Given the description of an element on the screen output the (x, y) to click on. 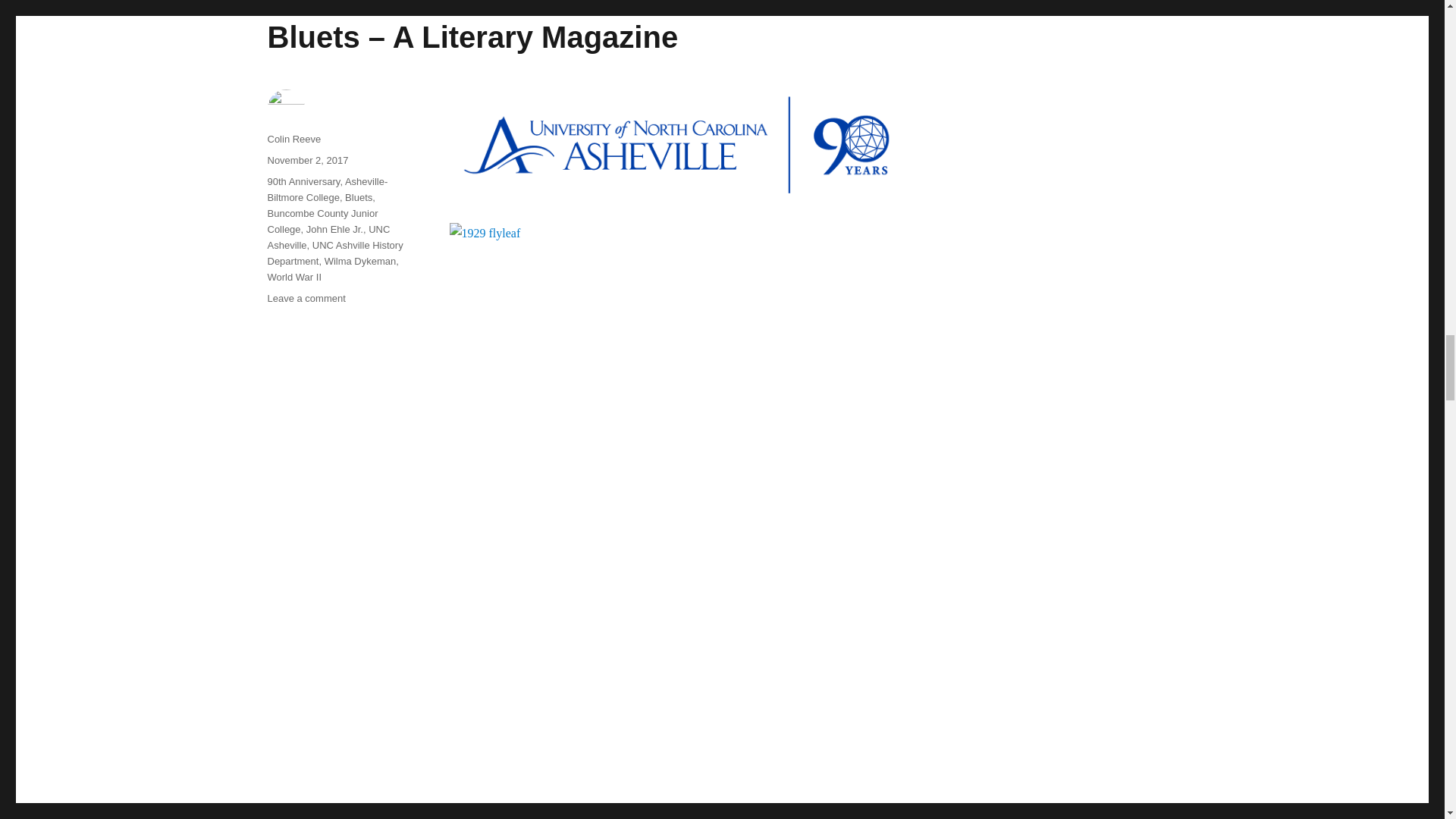
Asheville-Biltmore College (326, 189)
Colin Reeve (293, 138)
World War II (293, 276)
UNC Asheville (328, 236)
Wilma Dykeman (360, 260)
John Ehle Jr. (333, 229)
Bluets (358, 197)
90th Anniversary (302, 181)
UNC Ashville History Department (334, 252)
November 2, 2017 (306, 160)
